Given the description of an element on the screen output the (x, y) to click on. 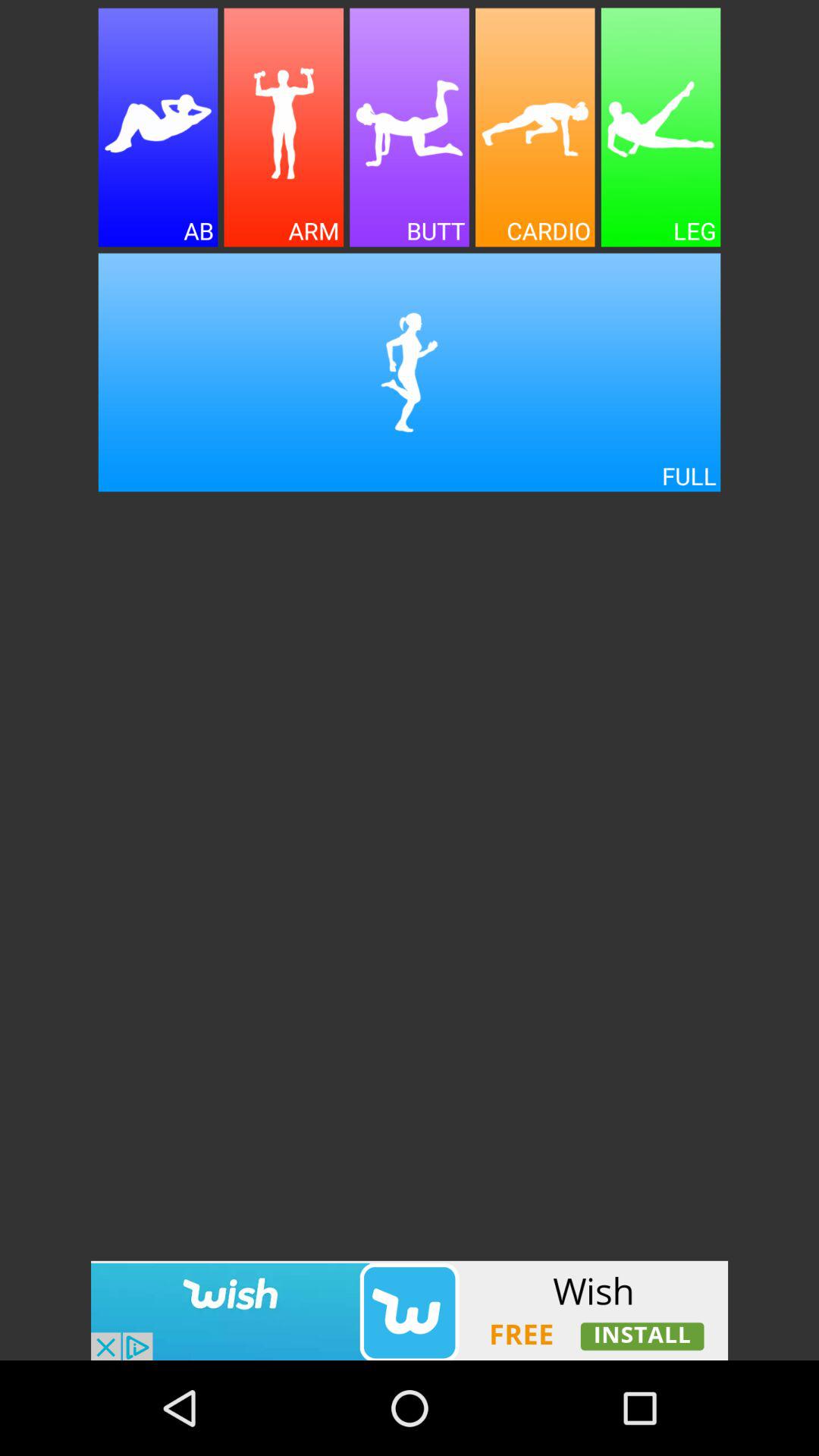
go to advertisement (534, 126)
